Given the description of an element on the screen output the (x, y) to click on. 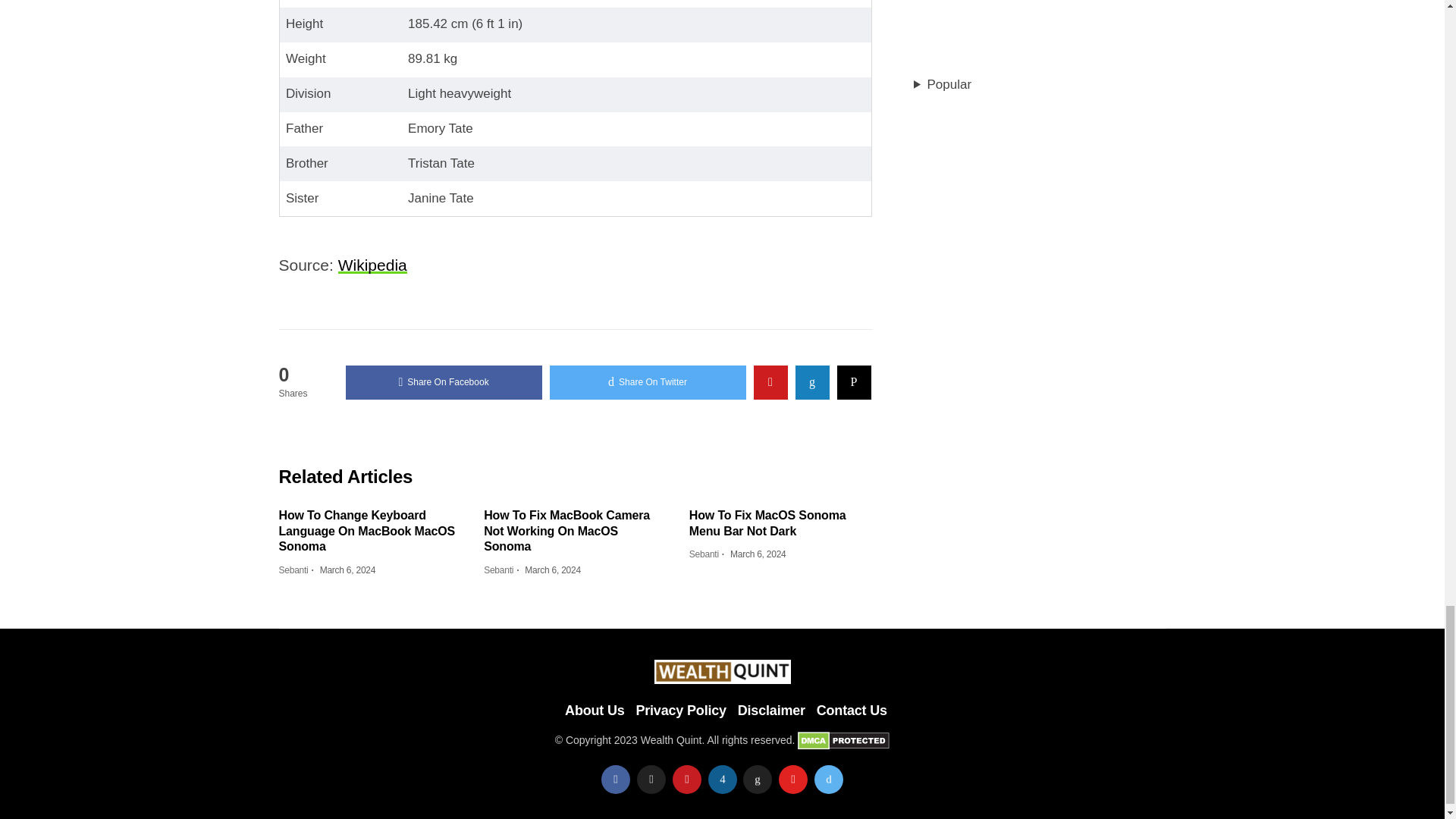
Posts by Sebanti (293, 570)
Posts by Sebanti (703, 553)
Posts by Sebanti (498, 570)
